Given the description of an element on the screen output the (x, y) to click on. 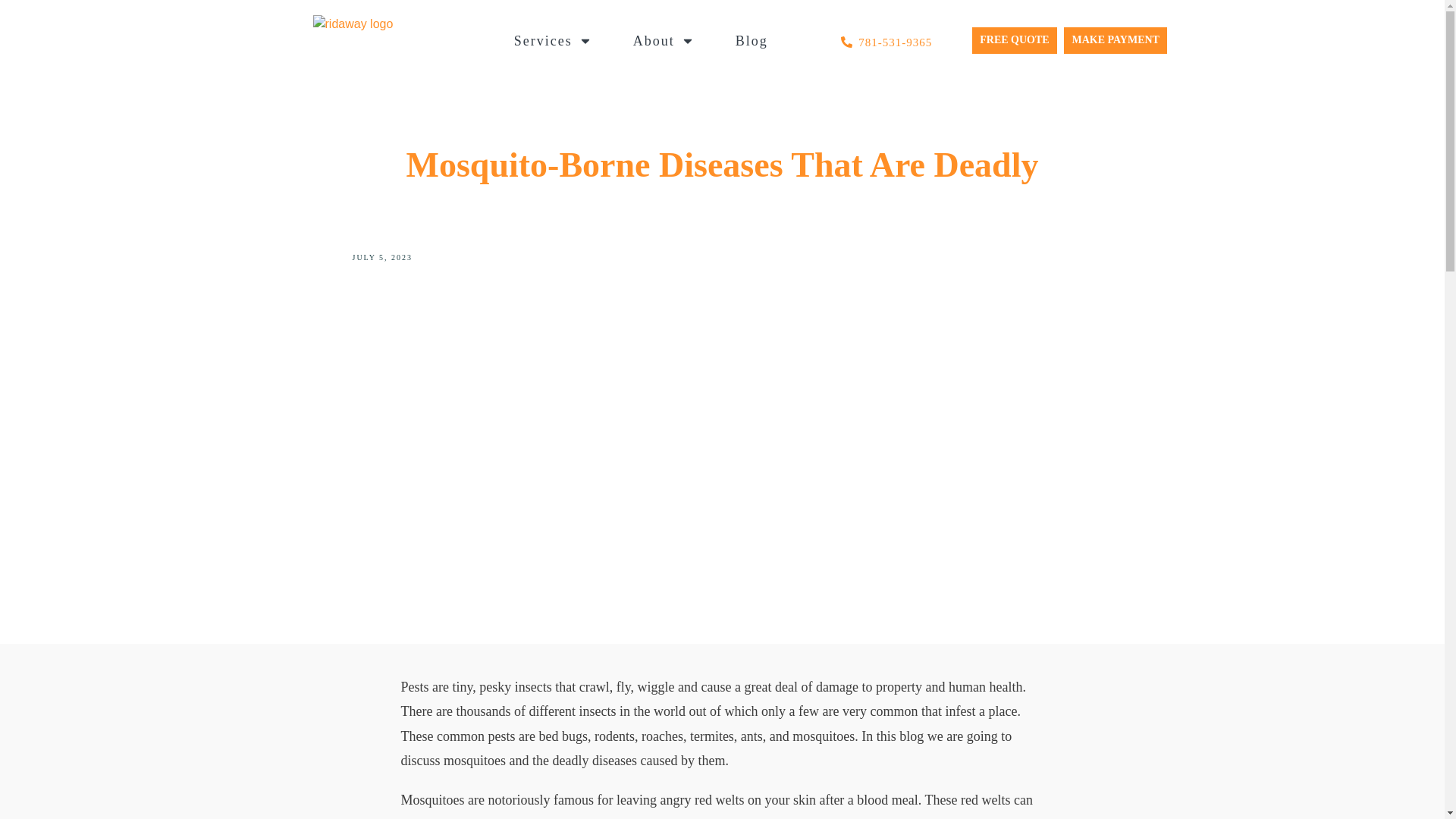
Mosquito-Borne Diseases That Are Deadly (722, 164)
Mosquito-Borne Diseases That Are Deadly (722, 164)
MAKE PAYMENT (1115, 40)
About (663, 40)
781-531-9365 (895, 42)
Services (552, 40)
FREE QUOTE (1014, 40)
Blog (751, 40)
